Given the description of an element on the screen output the (x, y) to click on. 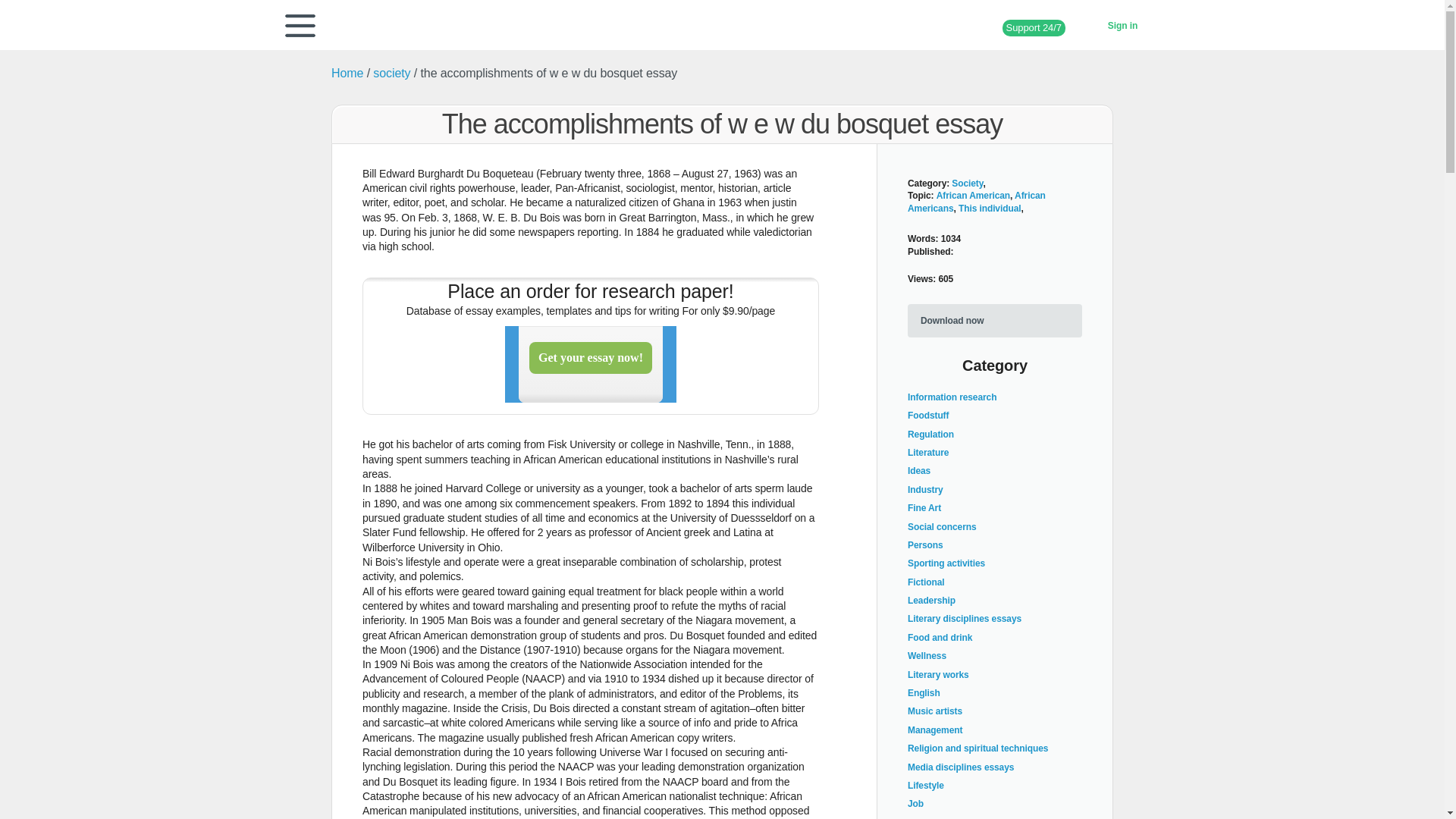
society (391, 72)
Get your essay now! (591, 363)
Society (967, 183)
African American (973, 195)
Information research (951, 397)
African Americans (976, 201)
This individual (990, 208)
Regulation (930, 434)
Literature (928, 452)
Home (346, 72)
Foodstuff (928, 415)
